Given the description of an element on the screen output the (x, y) to click on. 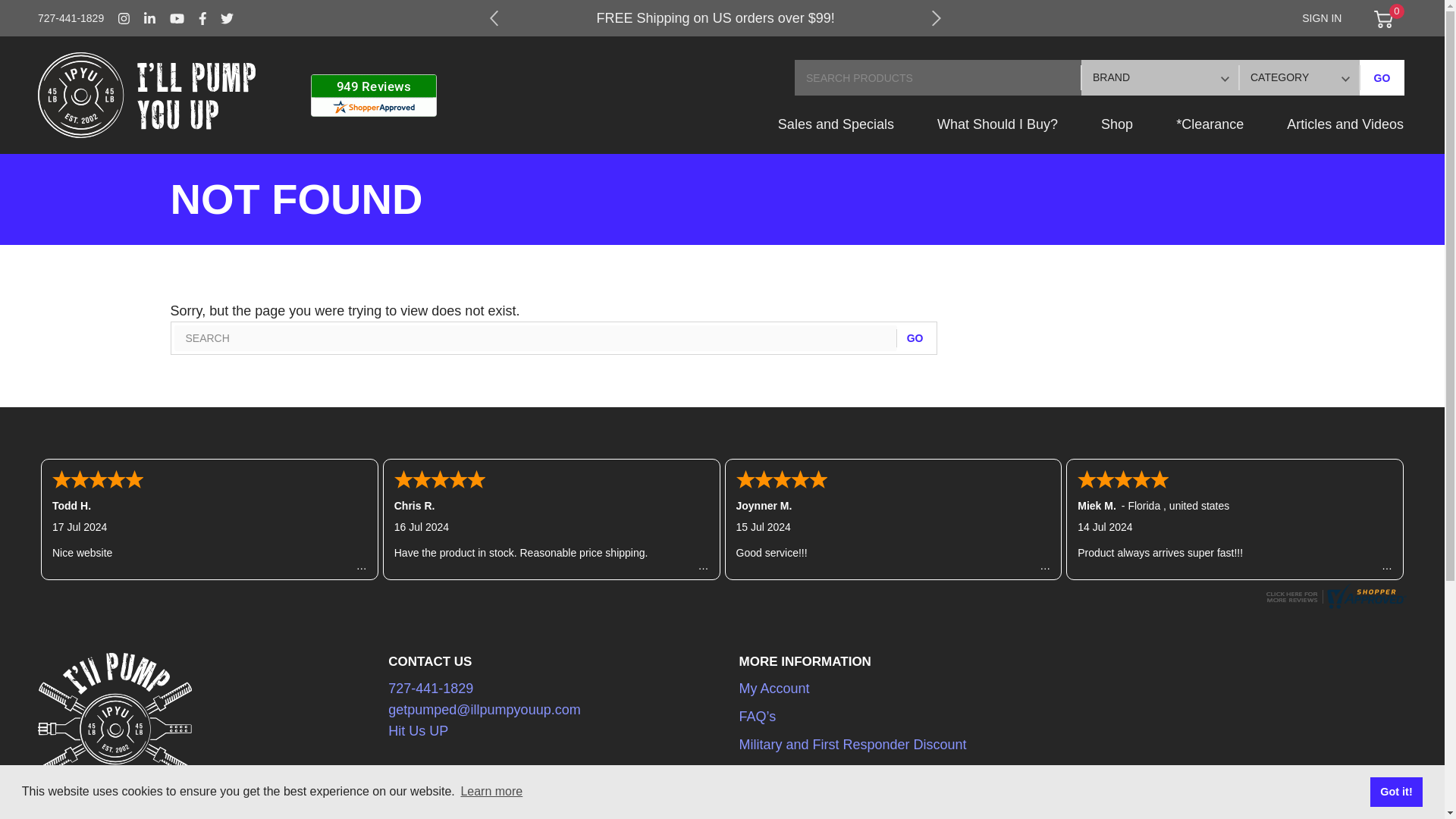
GO (1382, 77)
SIGN IN (1320, 18)
GO (914, 338)
GO (1382, 77)
Learn more (491, 791)
Sales and Specials (836, 133)
Got it! (1396, 791)
727-441-1829 (71, 18)
What Should I Buy? (997, 133)
Shop (1117, 133)
Reviews (1334, 604)
GO (914, 338)
